Given the description of an element on the screen output the (x, y) to click on. 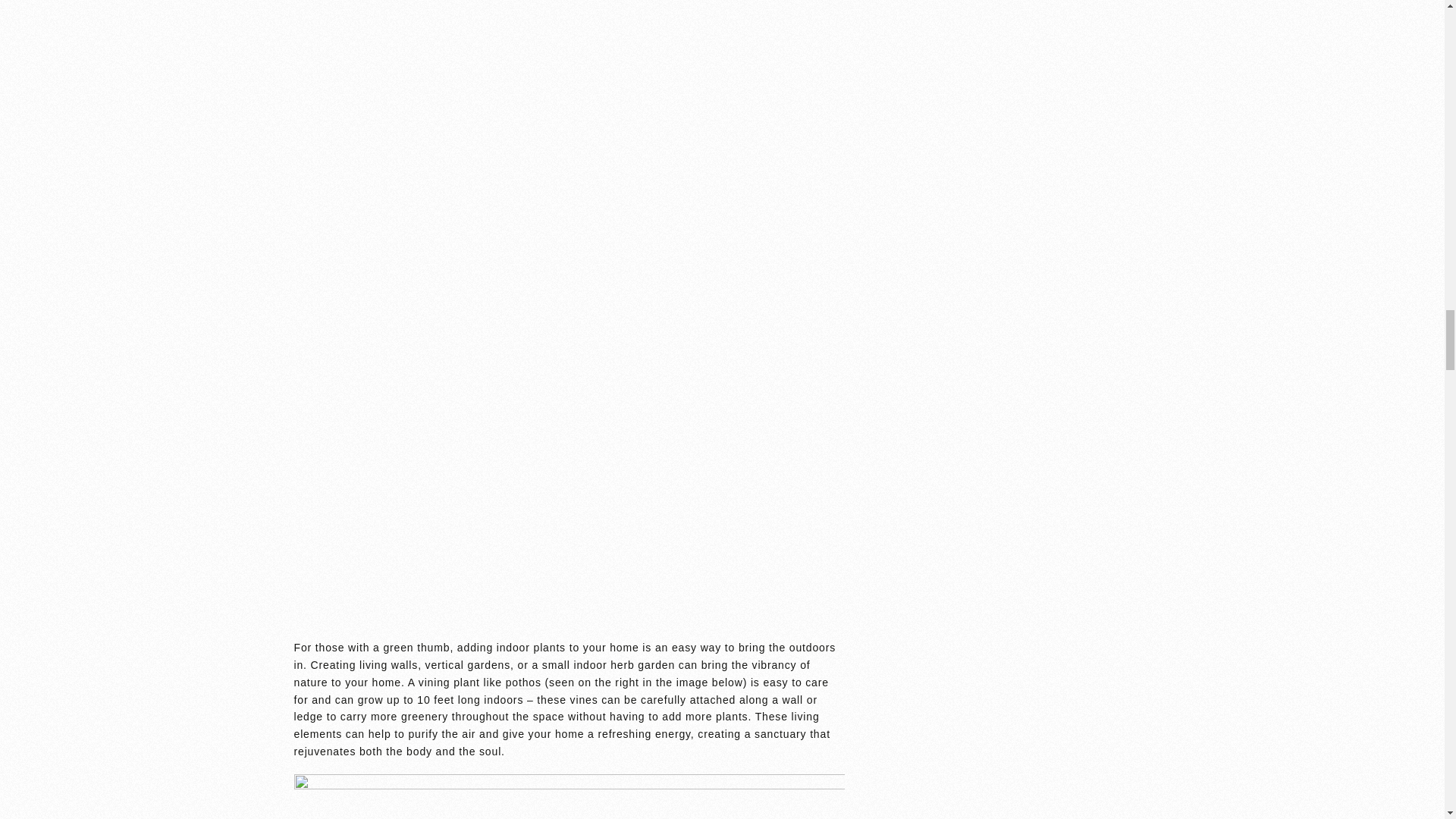
pothos (523, 682)
